Given the description of an element on the screen output the (x, y) to click on. 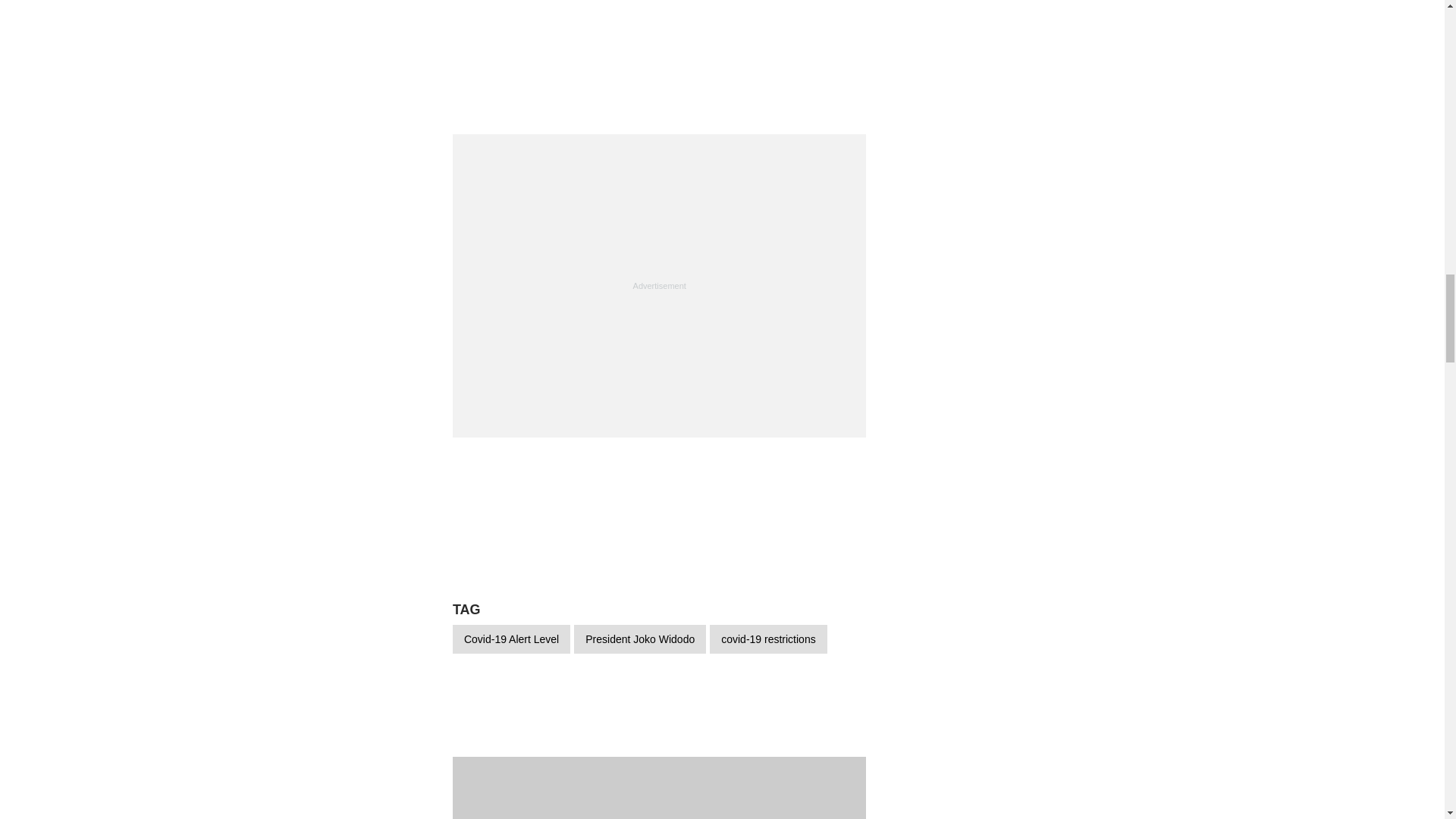
Covid-19 Alert Level (511, 638)
covid-19 restrictions (768, 638)
President Joko Widodo (639, 638)
